Given the description of an element on the screen output the (x, y) to click on. 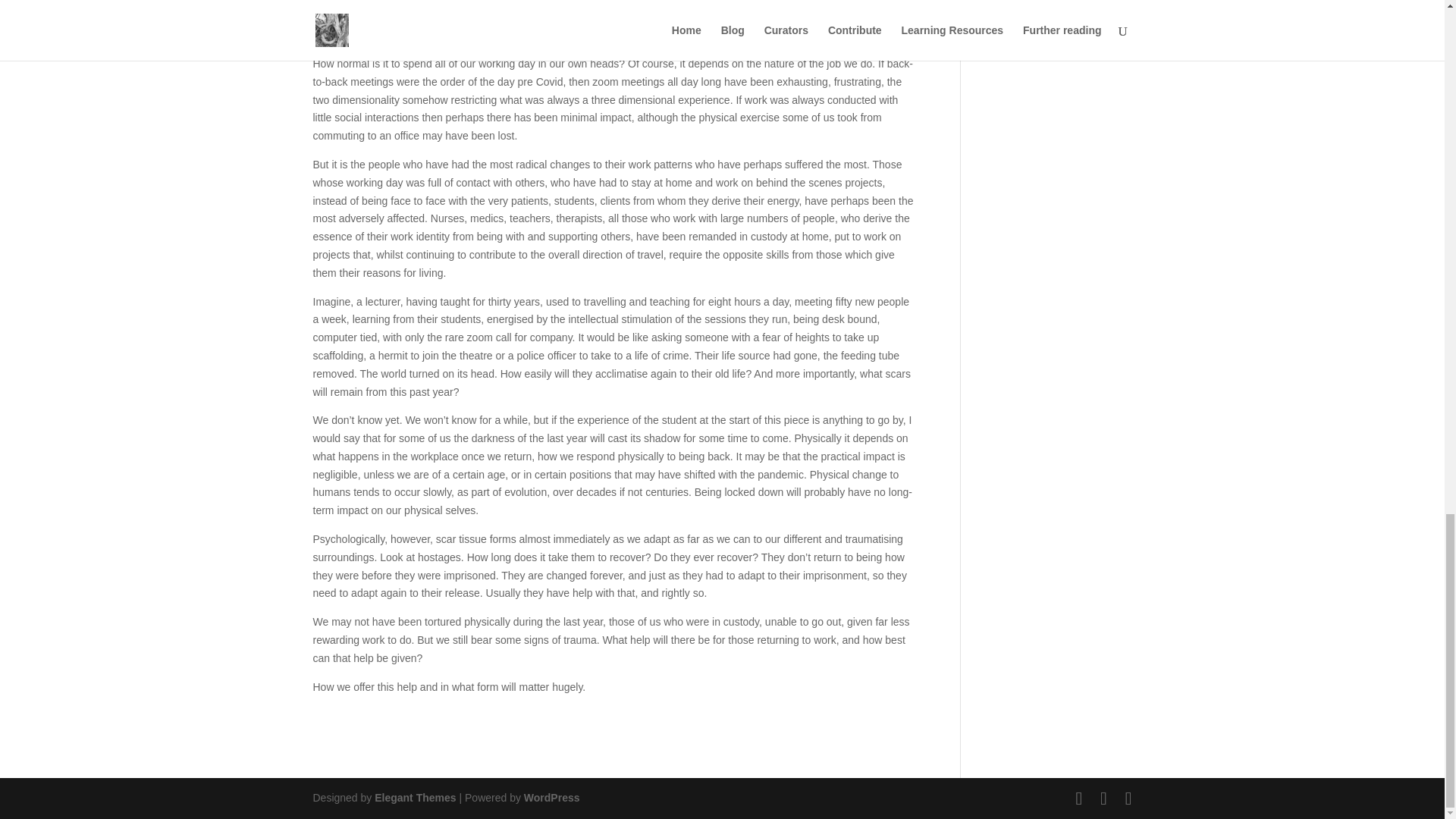
Elegant Themes (414, 797)
WordPress (551, 797)
Premium WordPress Themes (414, 797)
